Given the description of an element on the screen output the (x, y) to click on. 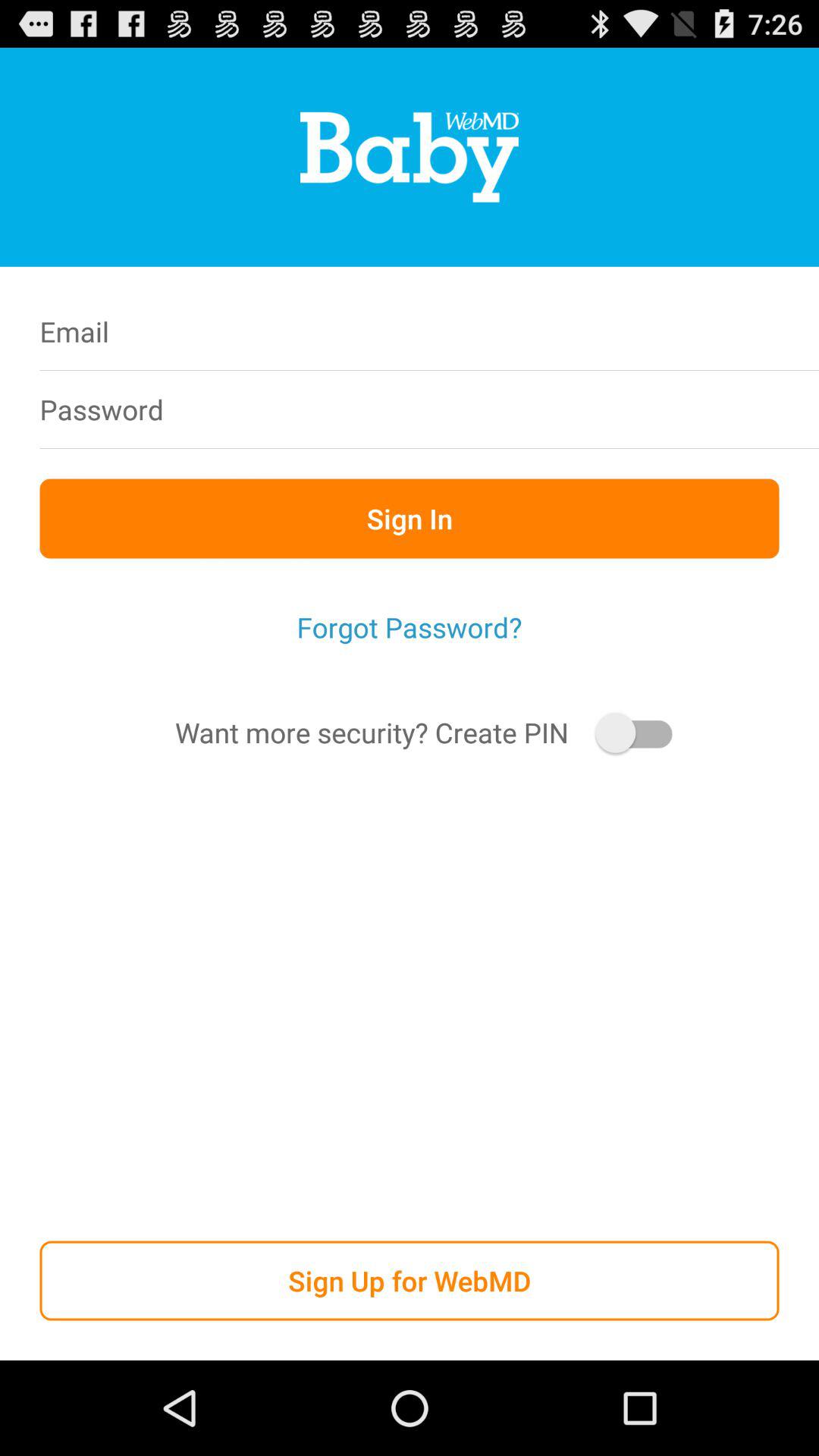
jump until the sign in icon (409, 518)
